Given the description of an element on the screen output the (x, y) to click on. 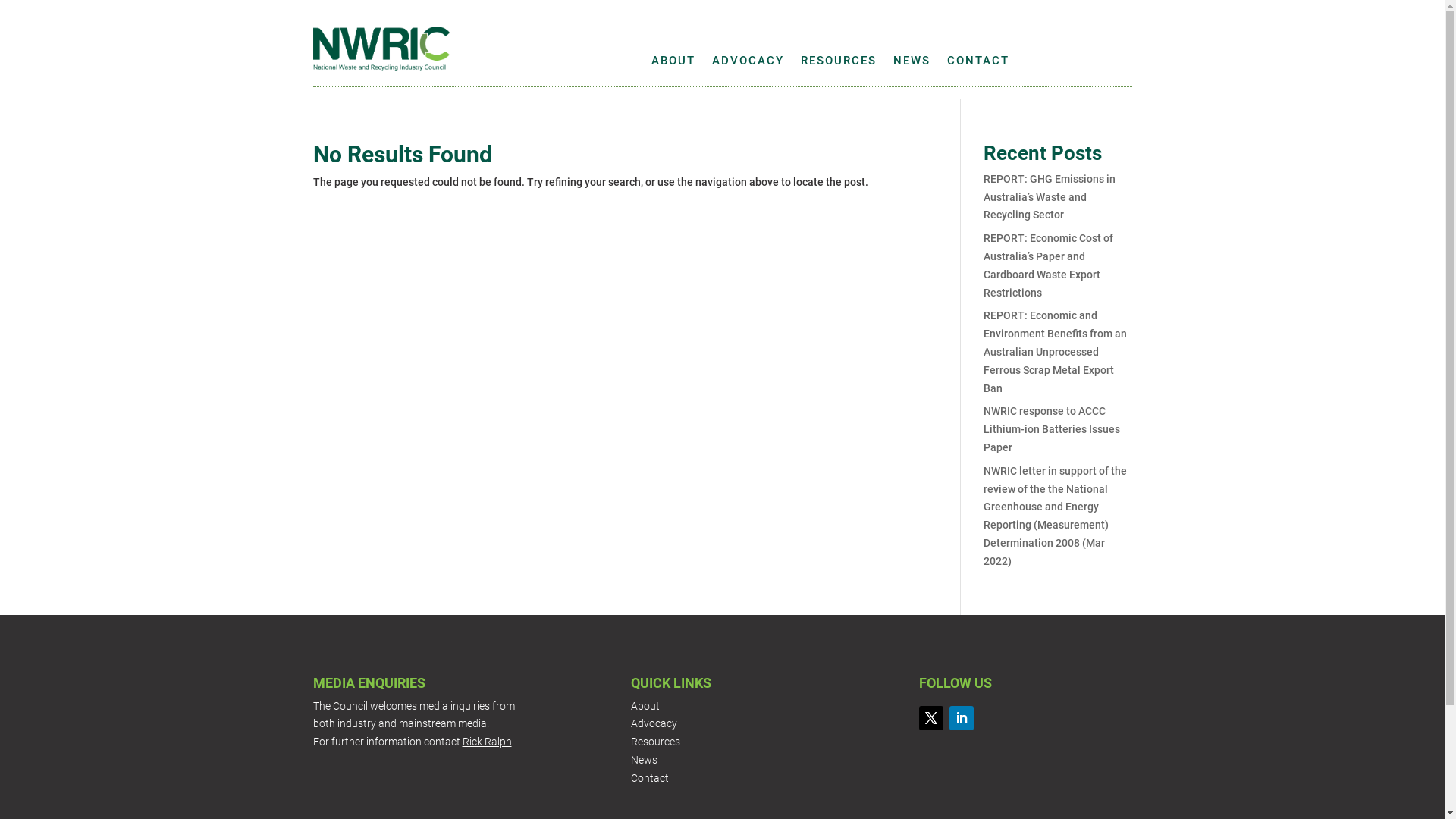
Contact Element type: text (649, 777)
News Element type: text (643, 759)
NWRIC_Logo Element type: hover (380, 48)
Follow on LinkedIn Element type: hover (961, 718)
RESOURCES Element type: text (838, 63)
ABOUT Element type: text (673, 63)
NWRIC response to ACCC Lithium-ion Batteries Issues Paper Element type: text (1051, 428)
Rick Ralph Element type: text (486, 741)
About Element type: text (644, 705)
ADVOCACY Element type: text (748, 63)
Advocacy Element type: text (653, 723)
NEWS Element type: text (911, 63)
Resources Element type: text (655, 741)
CONTACT Element type: text (978, 63)
Follow on X Element type: hover (931, 718)
